Given the description of an element on the screen output the (x, y) to click on. 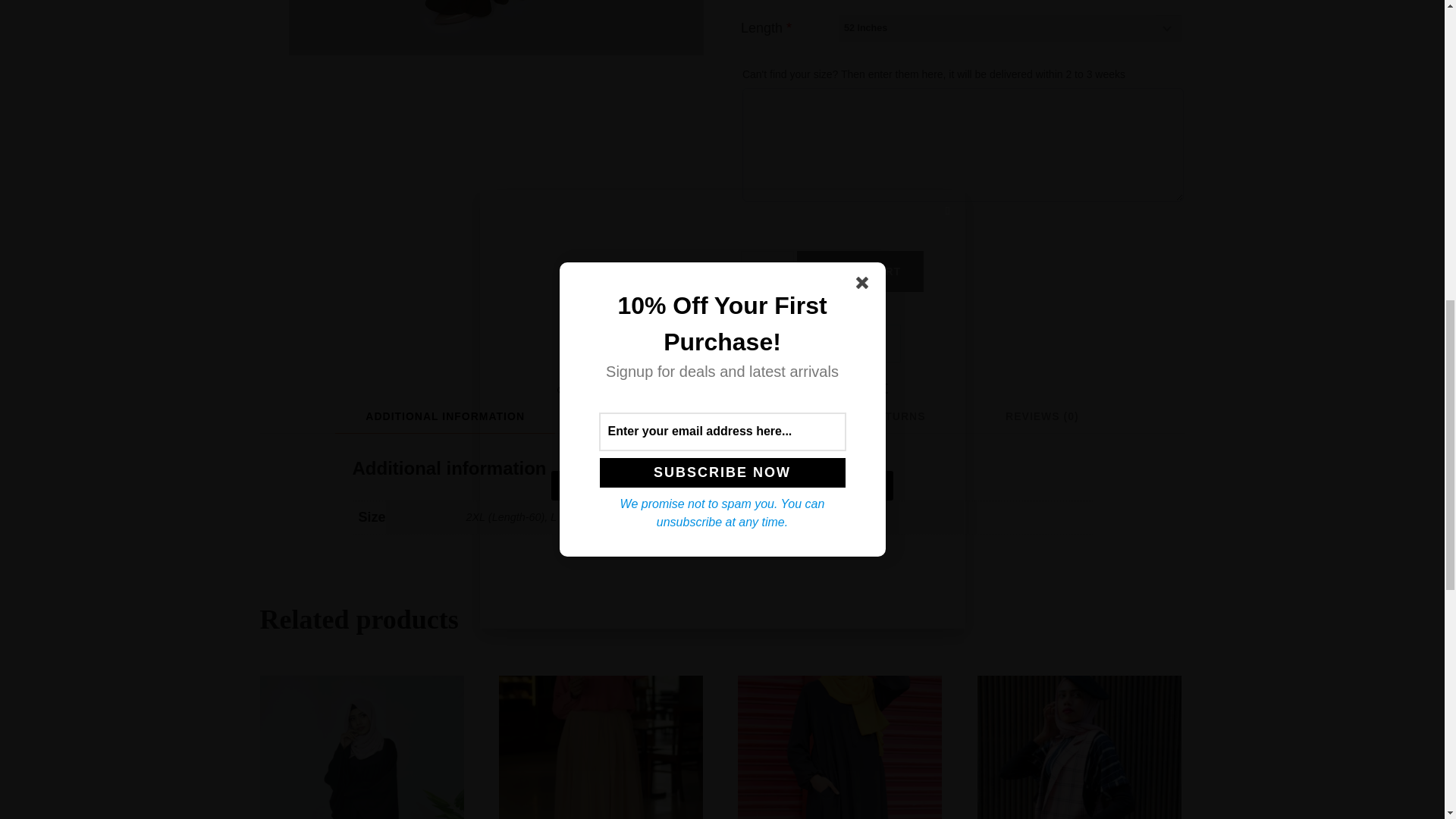
1 (767, 270)
178A9077web (495, 27)
